Given the description of an element on the screen output the (x, y) to click on. 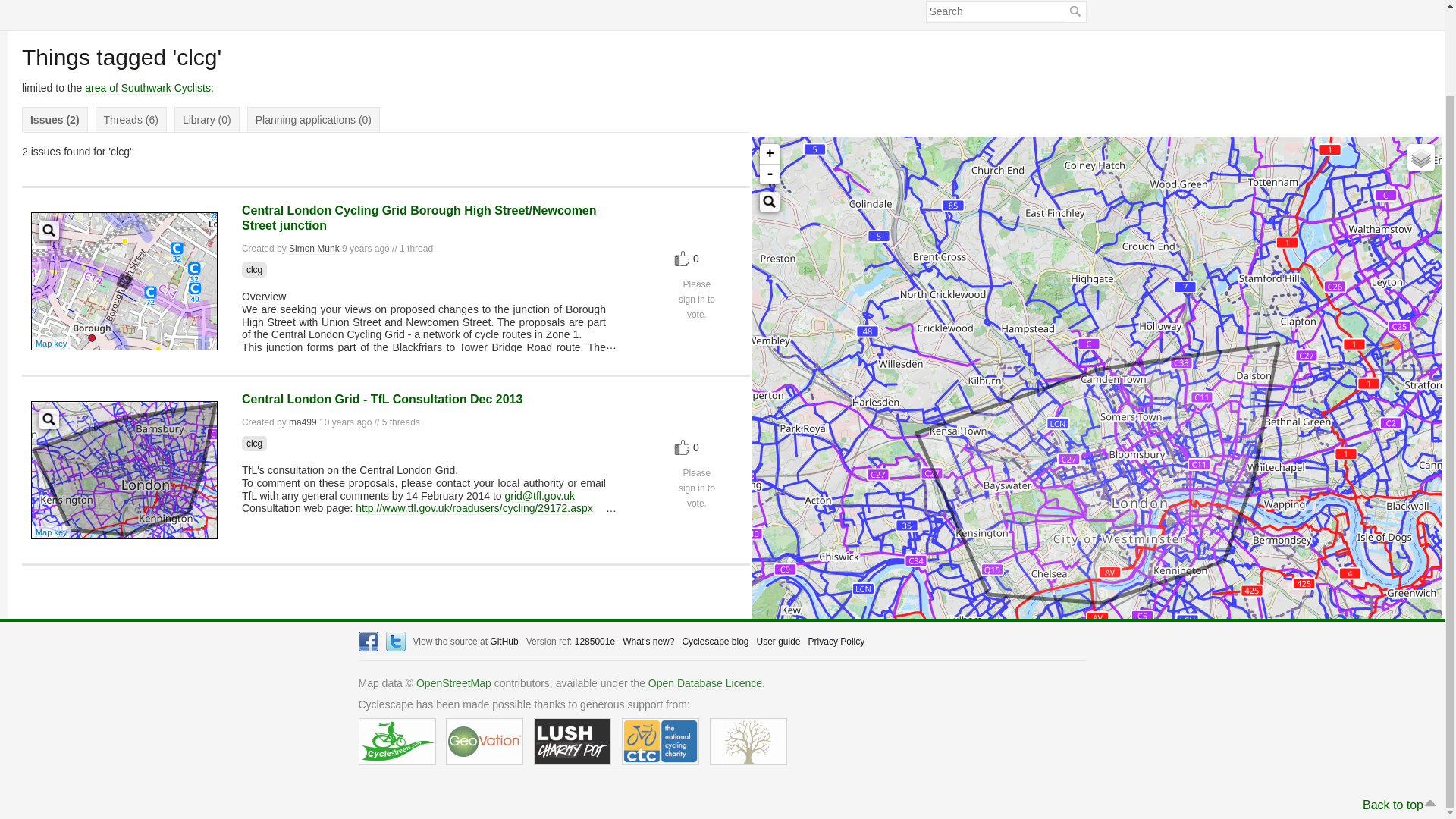
Zoom in (769, 55)
area of Southwark Cyclists (147, 88)
clcg (253, 269)
Search... (769, 103)
01 February, 2014 16:42 (344, 421)
clcg (253, 443)
Search... (49, 230)
Layers (1420, 59)
Simon Munk (313, 248)
- (769, 76)
GO (1074, 11)
Map key (50, 343)
Map key (50, 531)
Zoom out (769, 76)
Central London Grid - TfL Consultation Dec 2013 (381, 399)
